Given the description of an element on the screen output the (x, y) to click on. 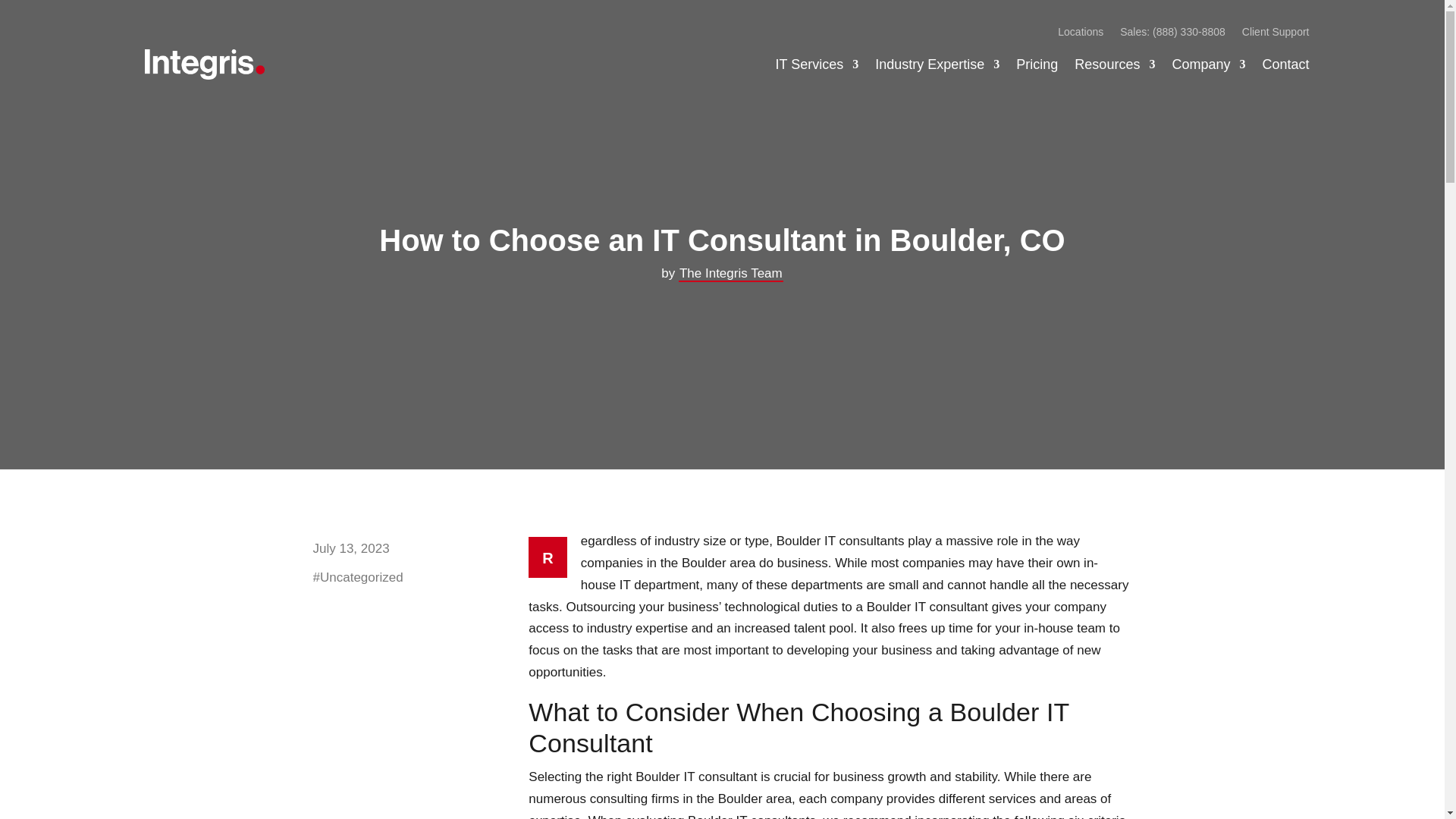
Client Support (1274, 34)
Locations (1080, 34)
Industry Expertise (936, 64)
Posts by The Integris Team (730, 273)
Company (1208, 64)
IT Services (817, 64)
Resources (1114, 64)
